Given the description of an element on the screen output the (x, y) to click on. 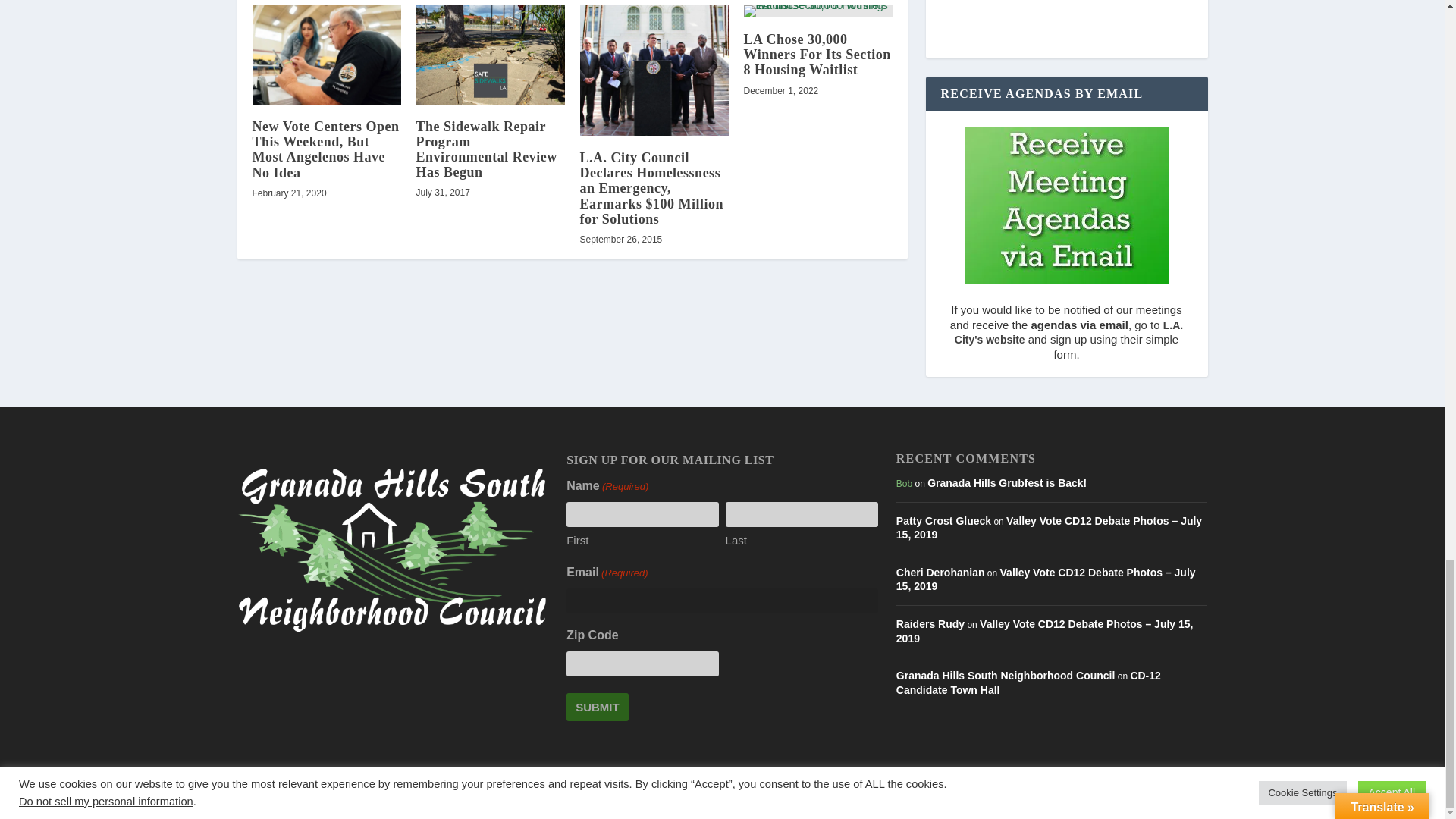
Submit (597, 706)
